Given the description of an element on the screen output the (x, y) to click on. 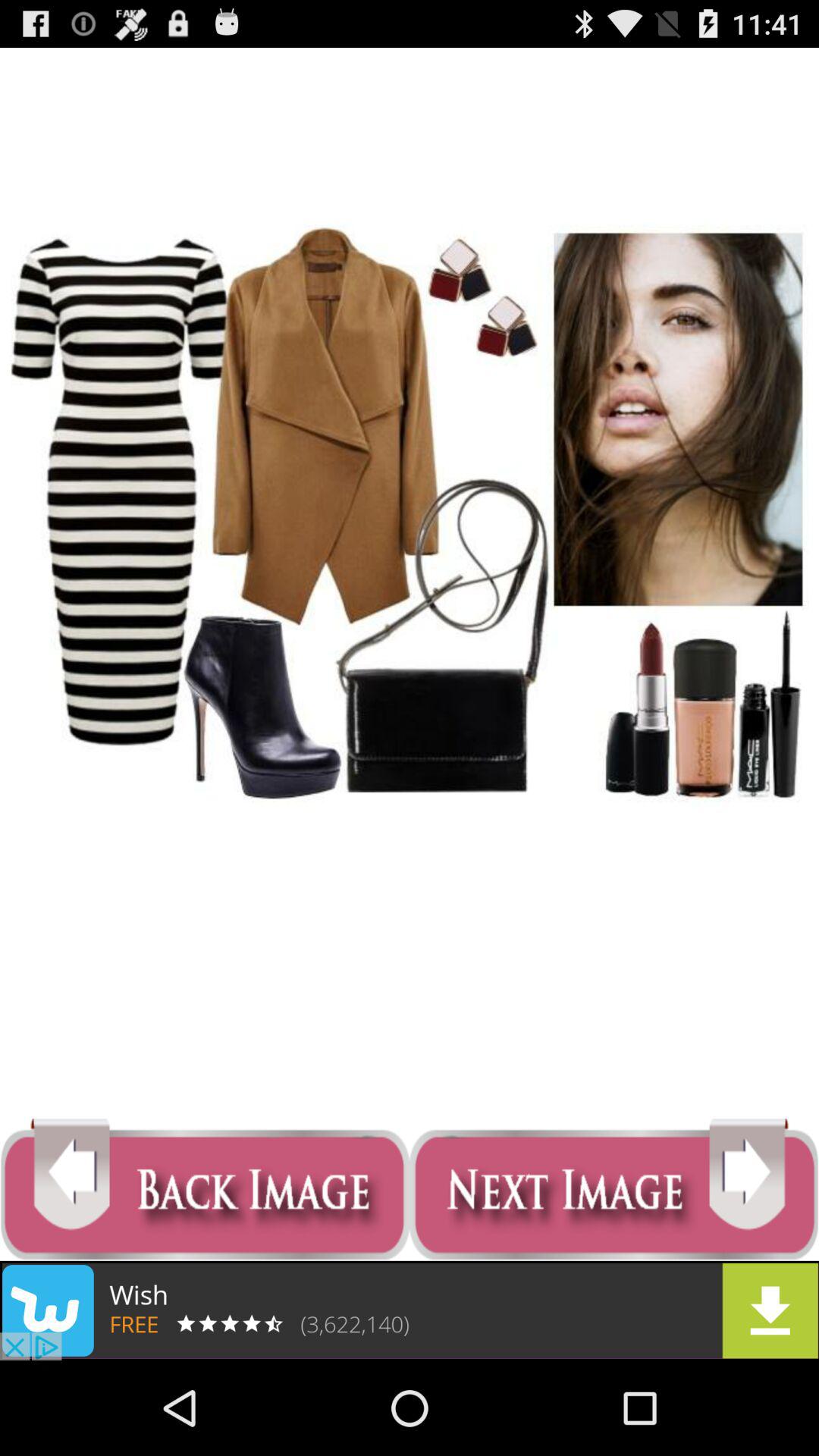
go to advertisement page (409, 1310)
